Given the description of an element on the screen output the (x, y) to click on. 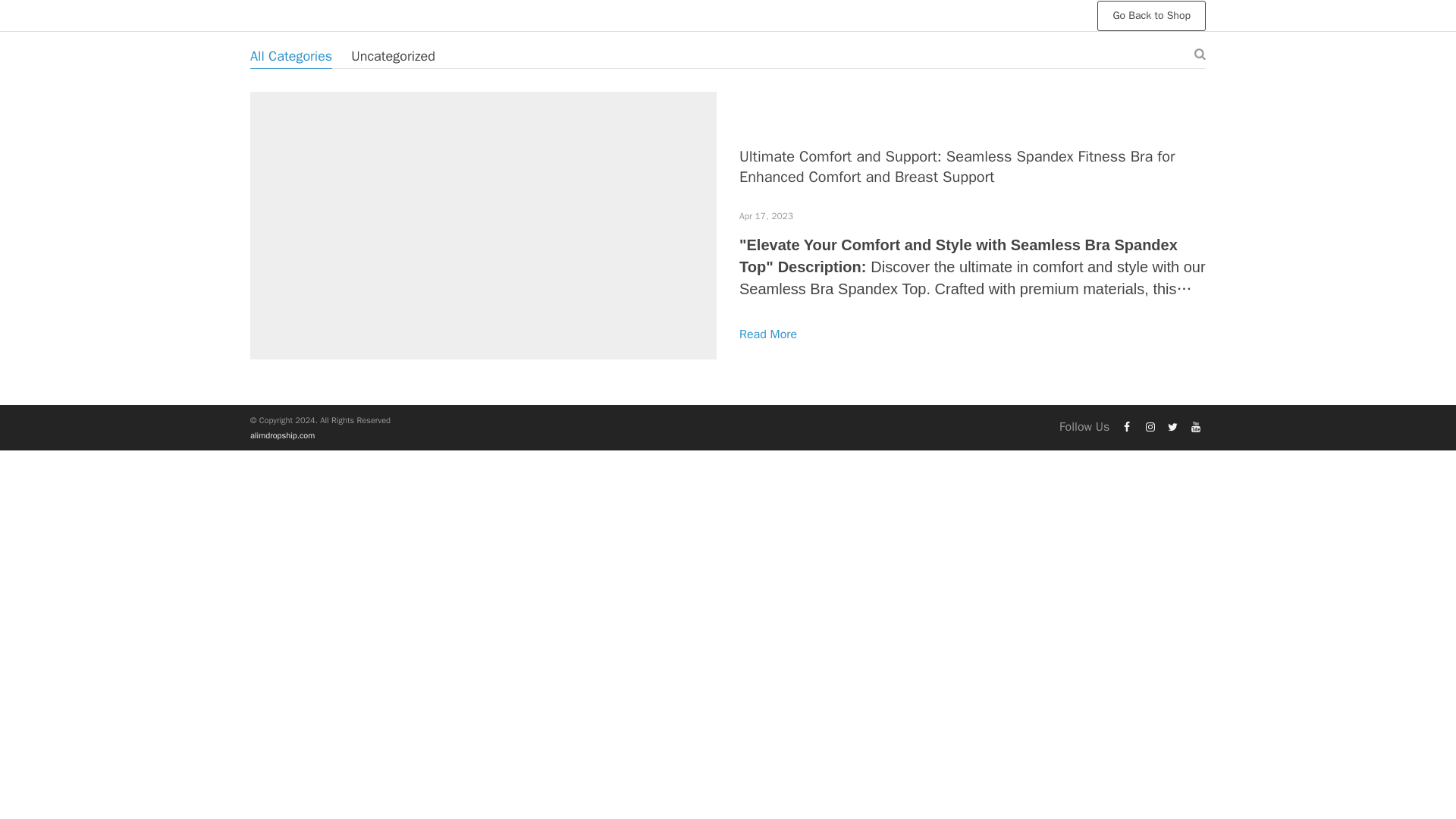
Read More (767, 334)
All Categories (290, 55)
alimdropship.com (282, 434)
Go Back to Shop (1151, 15)
Uncategorized (392, 55)
